Given the description of an element on the screen output the (x, y) to click on. 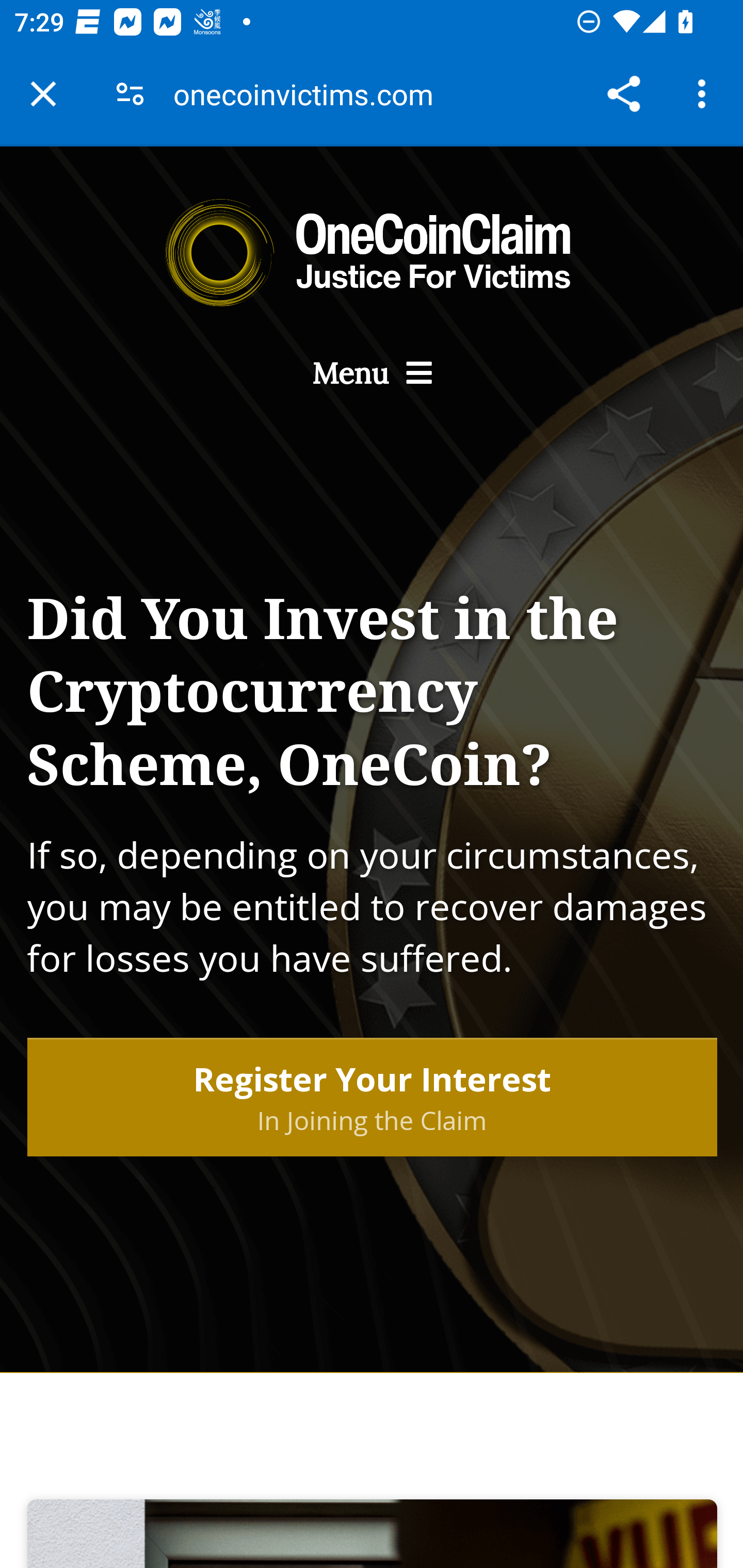
Close tab (43, 93)
Share (623, 93)
Customize and control Google Chrome (705, 93)
Connection is secure (129, 93)
onecoinvictims.com (310, 93)
Menu  Menu  (371, 373)
